Given the description of an element on the screen output the (x, y) to click on. 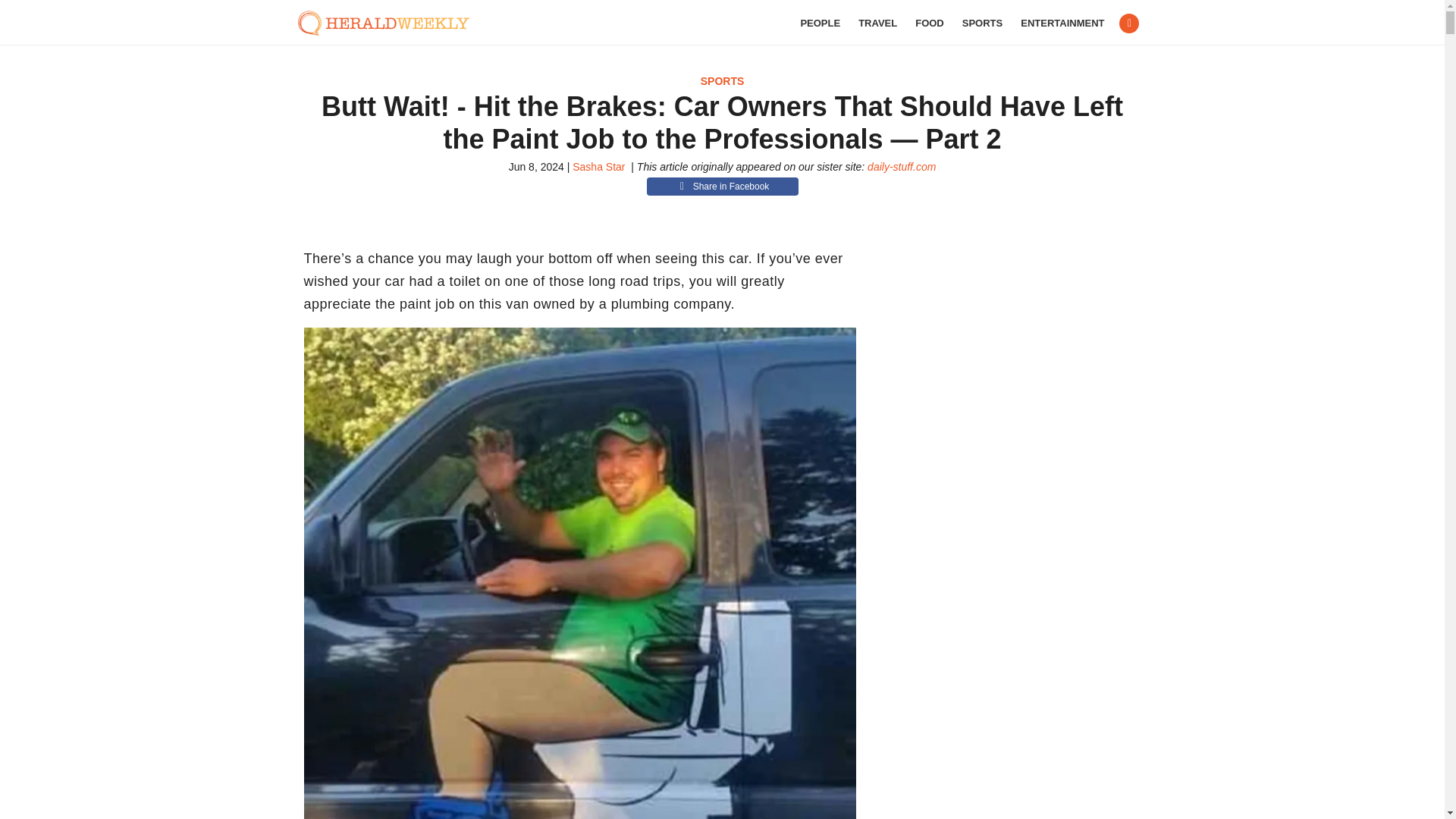
PEOPLE (819, 23)
Facebook (1128, 23)
Share in Facebook (721, 186)
TRAVEL (877, 23)
SPORTS (982, 23)
daily-stuff.com (901, 166)
ENTERTAINMENT (1061, 23)
Herald Weekly (391, 22)
SPORTS (722, 80)
Sasha Star (598, 166)
